Given the description of an element on the screen output the (x, y) to click on. 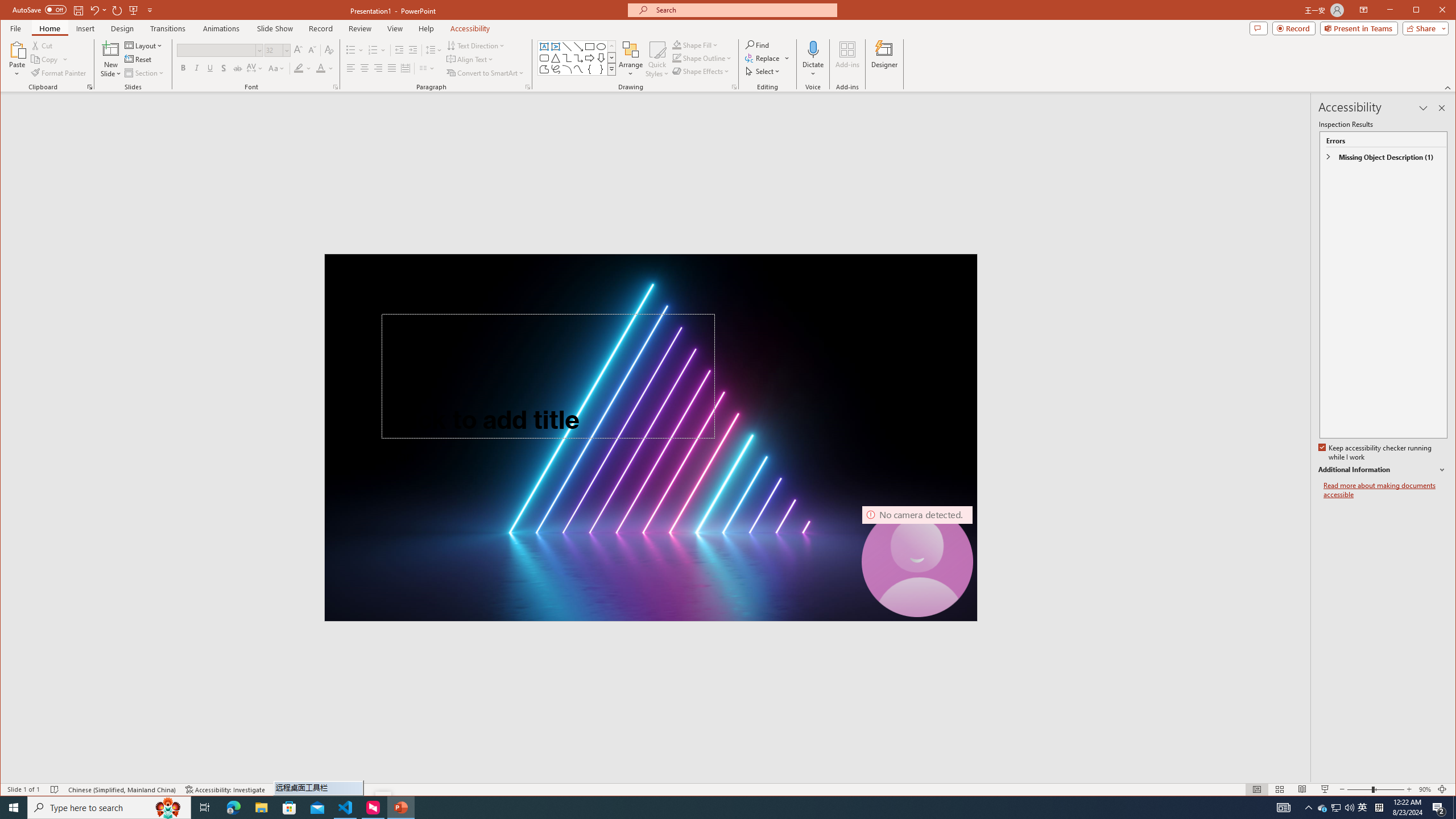
Line Spacing (433, 49)
Oval (601, 46)
Rectangle: Rounded Corners (544, 57)
Text Direction (476, 45)
Connector: Elbow (567, 57)
Right Brace (601, 69)
Arrange (631, 59)
